Given the description of an element on the screen output the (x, y) to click on. 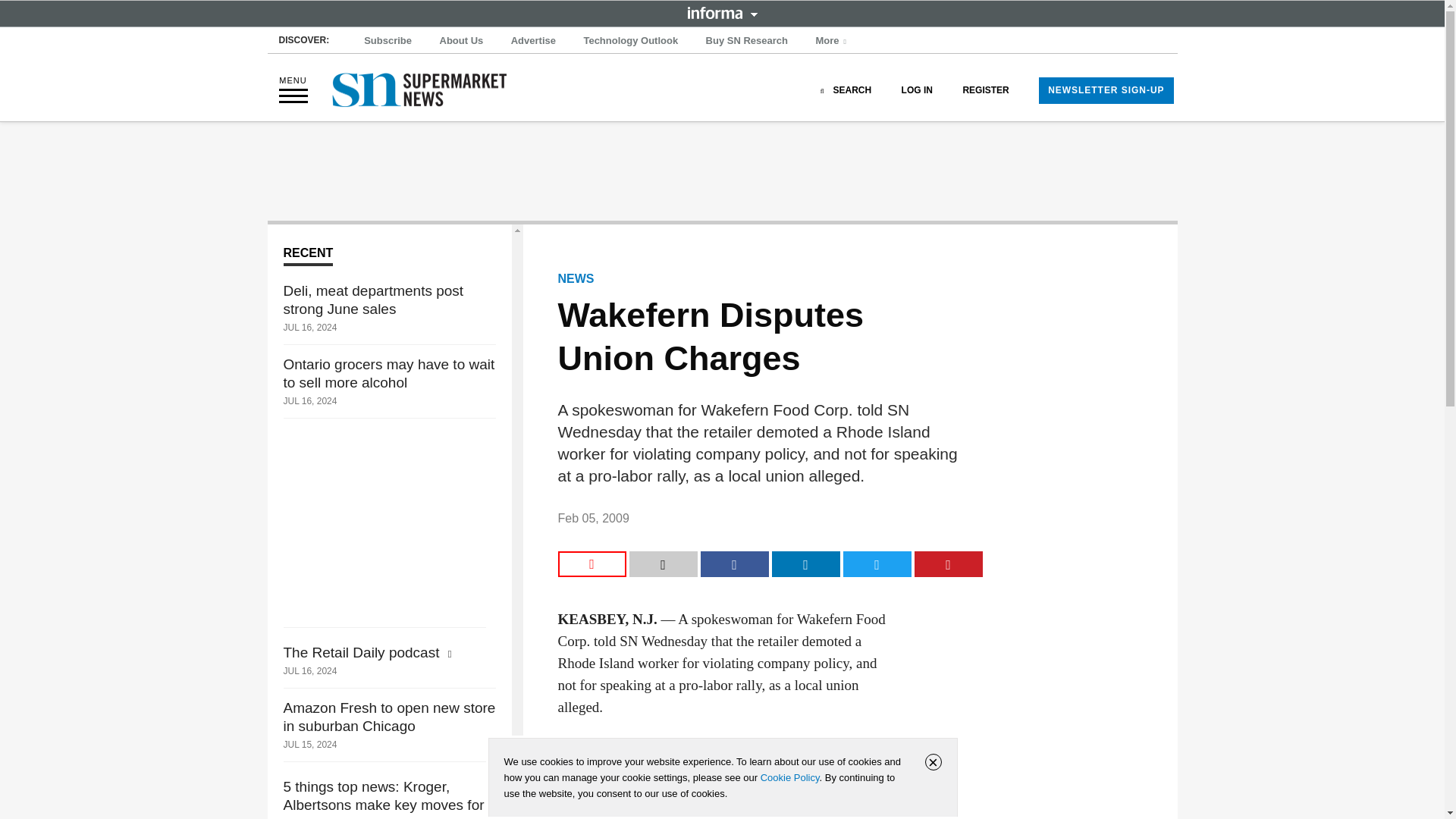
Subscribe (387, 41)
Advertise (533, 41)
MENU (293, 89)
More (832, 41)
Cookie Policy (789, 777)
About Us (461, 41)
INFORMA (722, 12)
Technology Outlook (630, 41)
Buy SN Research (746, 41)
